Given the description of an element on the screen output the (x, y) to click on. 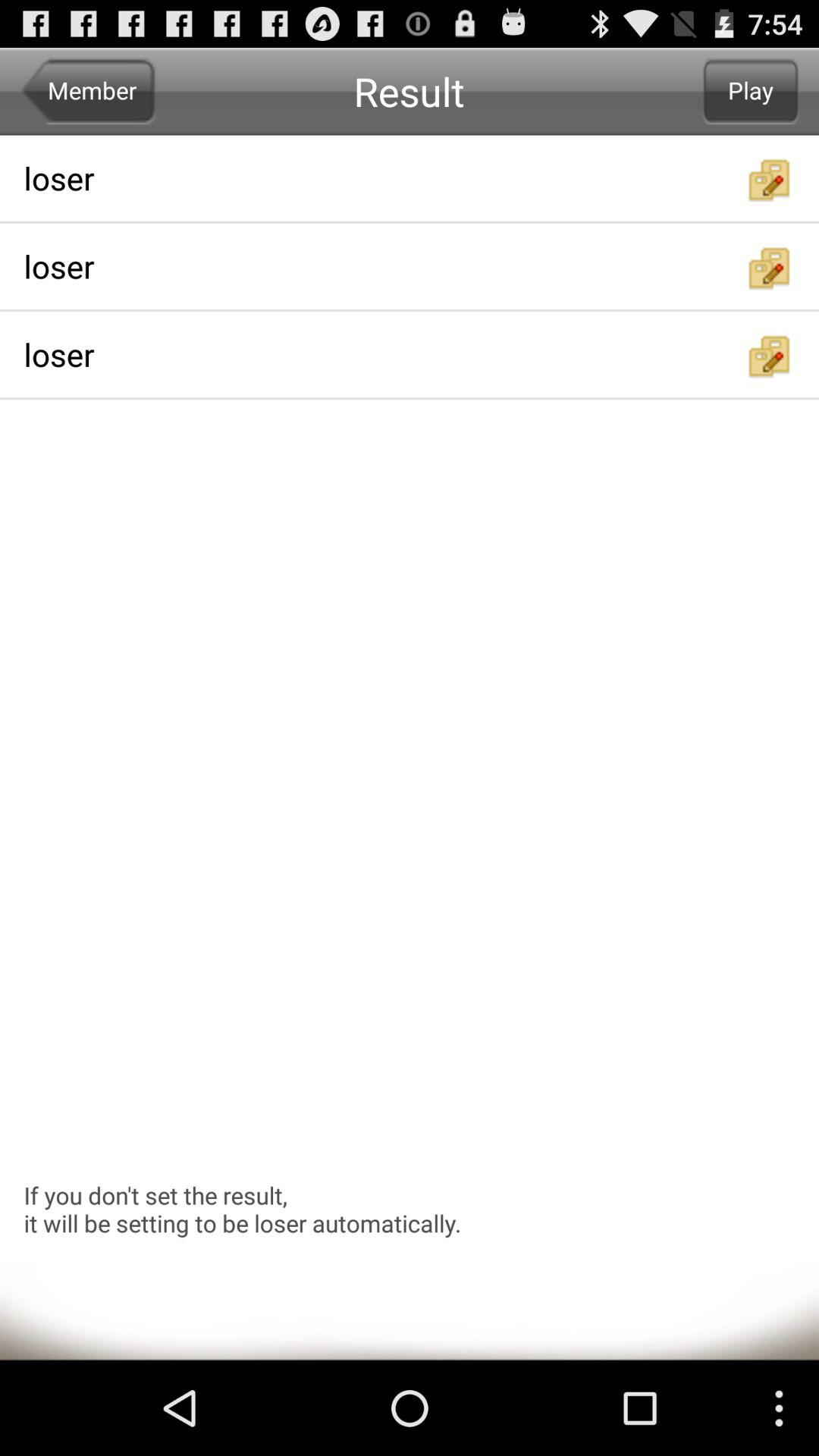
delete result (770, 179)
